Given the description of an element on the screen output the (x, y) to click on. 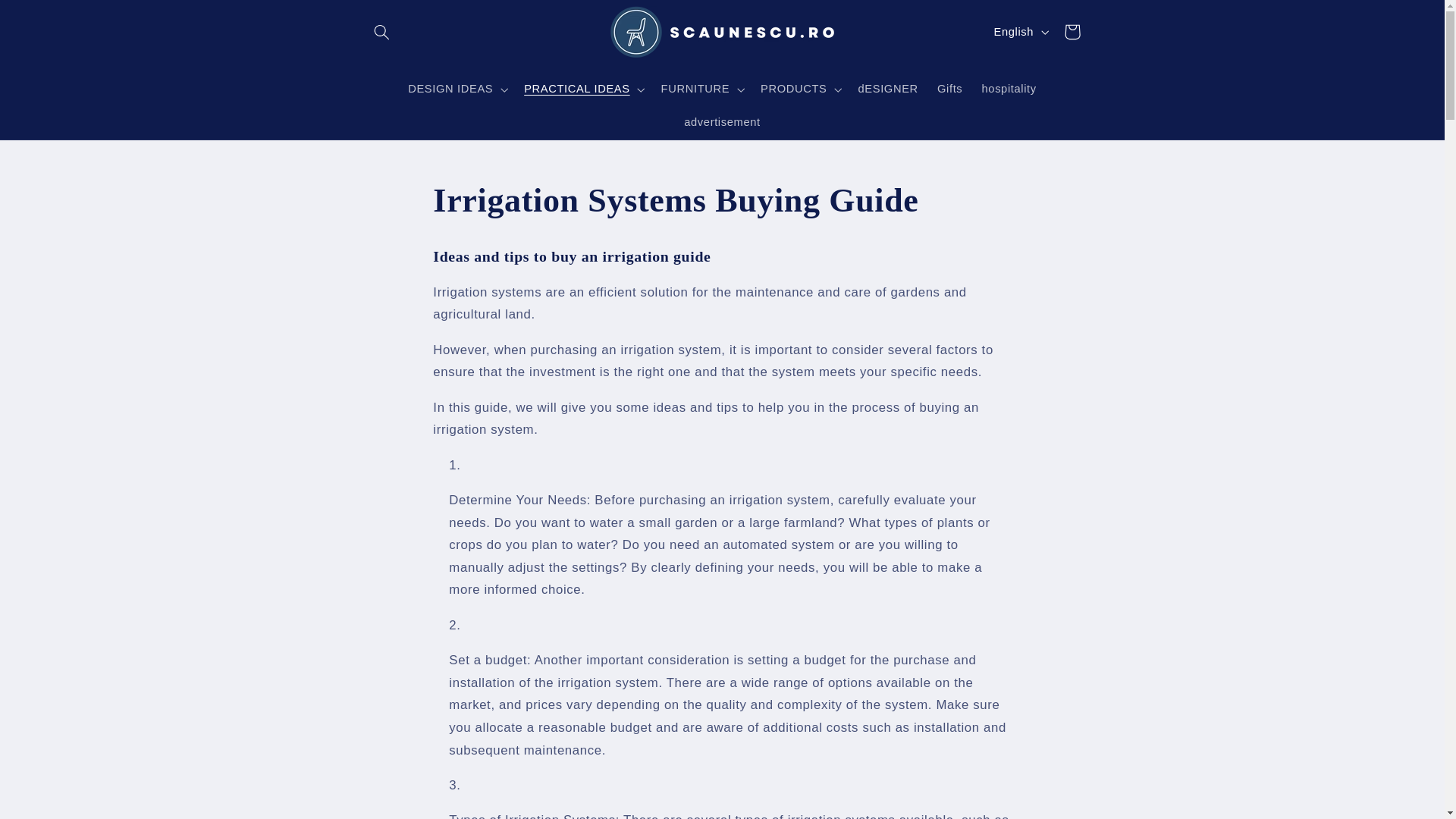
Skip to content (48, 18)
